Given the description of an element on the screen output the (x, y) to click on. 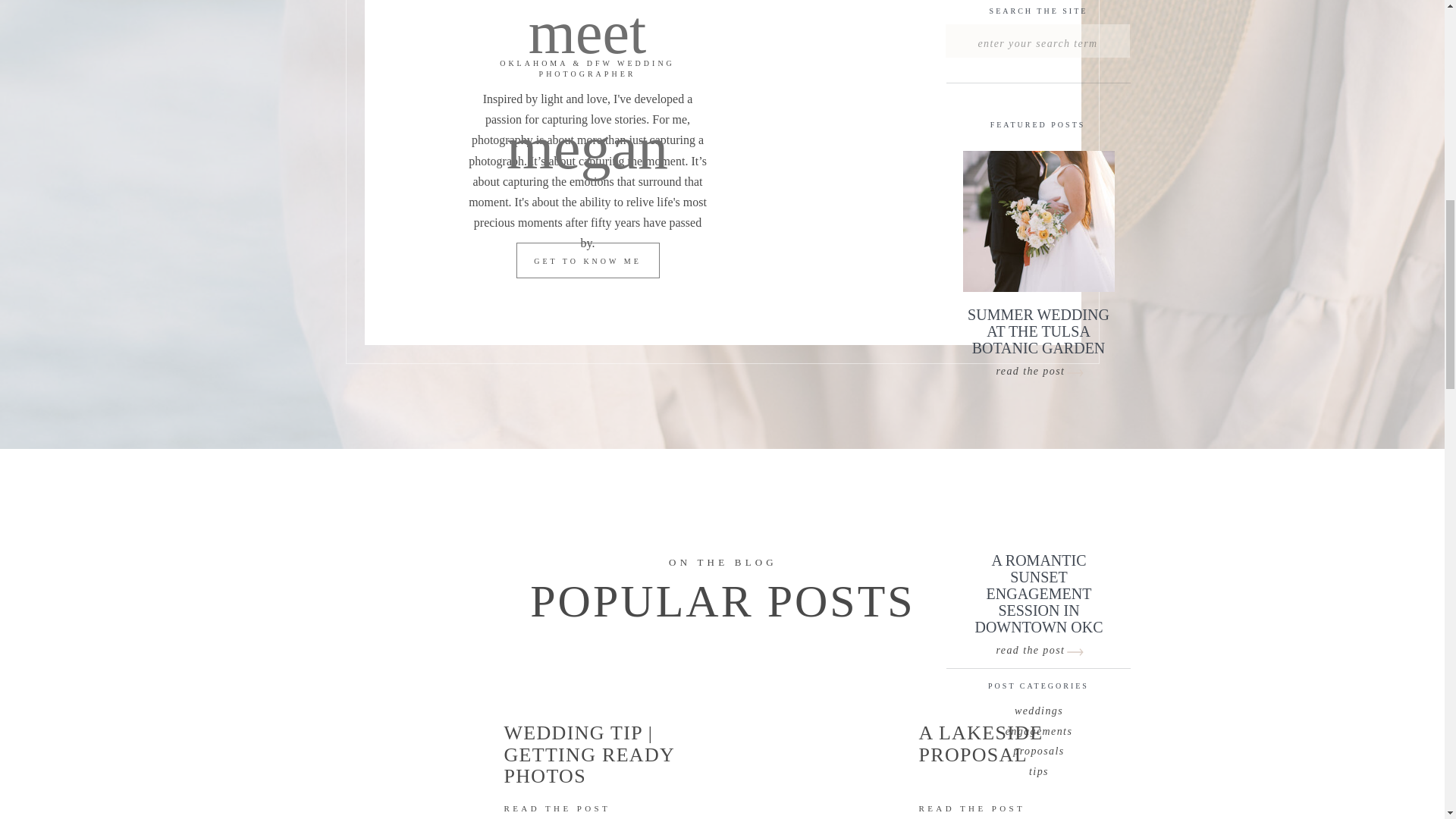
A ROMANTIC SUNSET ENGAGEMENT SESSION IN DOWNTOWN OKC (1038, 570)
SUMMER WEDDING AT THE TULSA BOTANIC GARDEN (1038, 322)
read the post (1037, 646)
weddings (1038, 708)
GET TO KNOW ME (587, 262)
read the post (1037, 367)
tips (1038, 769)
proposals (1038, 748)
READ THE POST (976, 811)
engagements (1038, 728)
A LAKESIDE PROPOSAL (1020, 754)
